Given the description of an element on the screen output the (x, y) to click on. 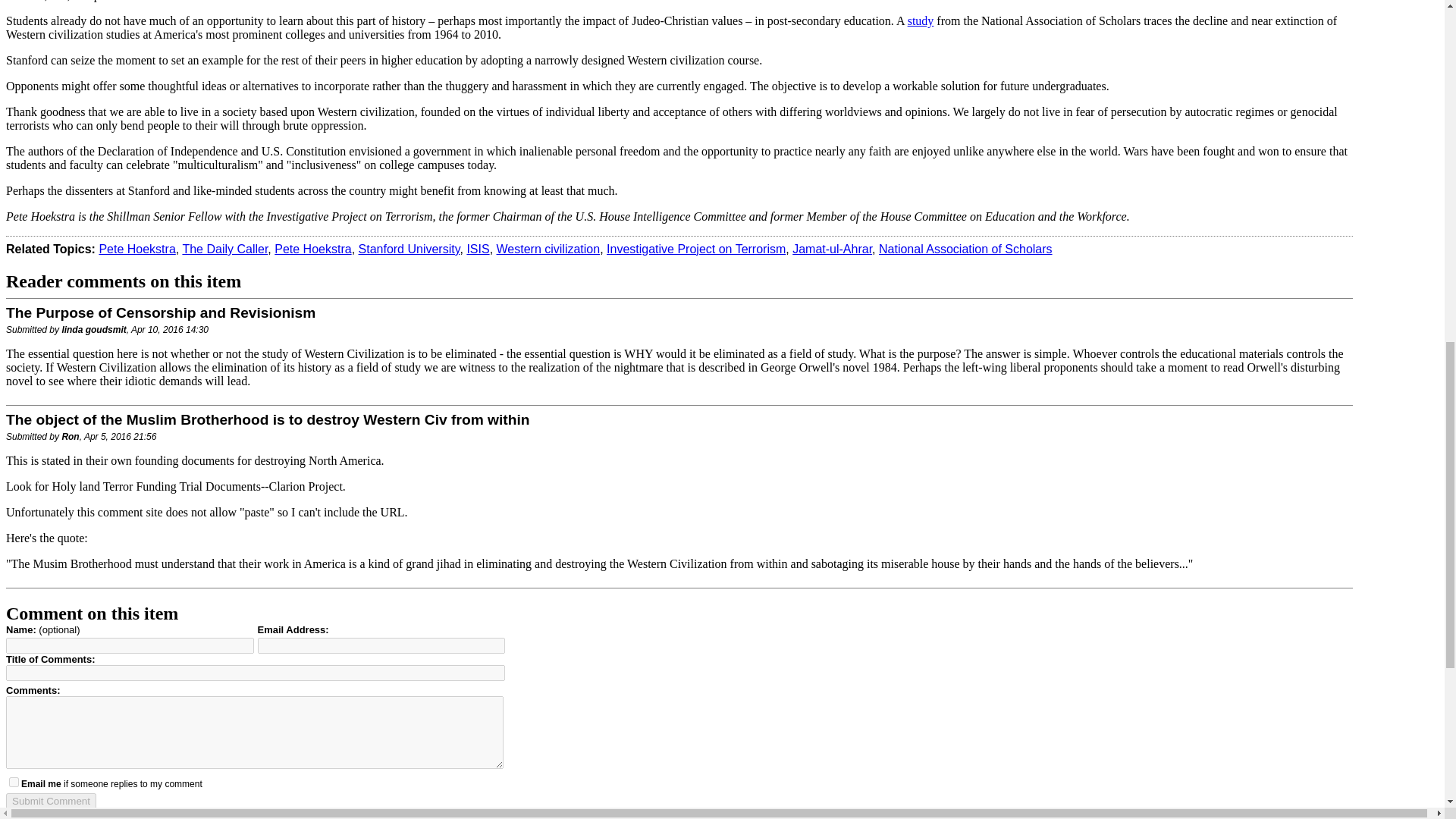
Pete Hoekstra (136, 248)
1 (13, 782)
Submit Comment (50, 801)
study (920, 20)
Stanford University (409, 248)
The Daily Caller (224, 248)
Pete Hoekstra (312, 248)
